Given the description of an element on the screen output the (x, y) to click on. 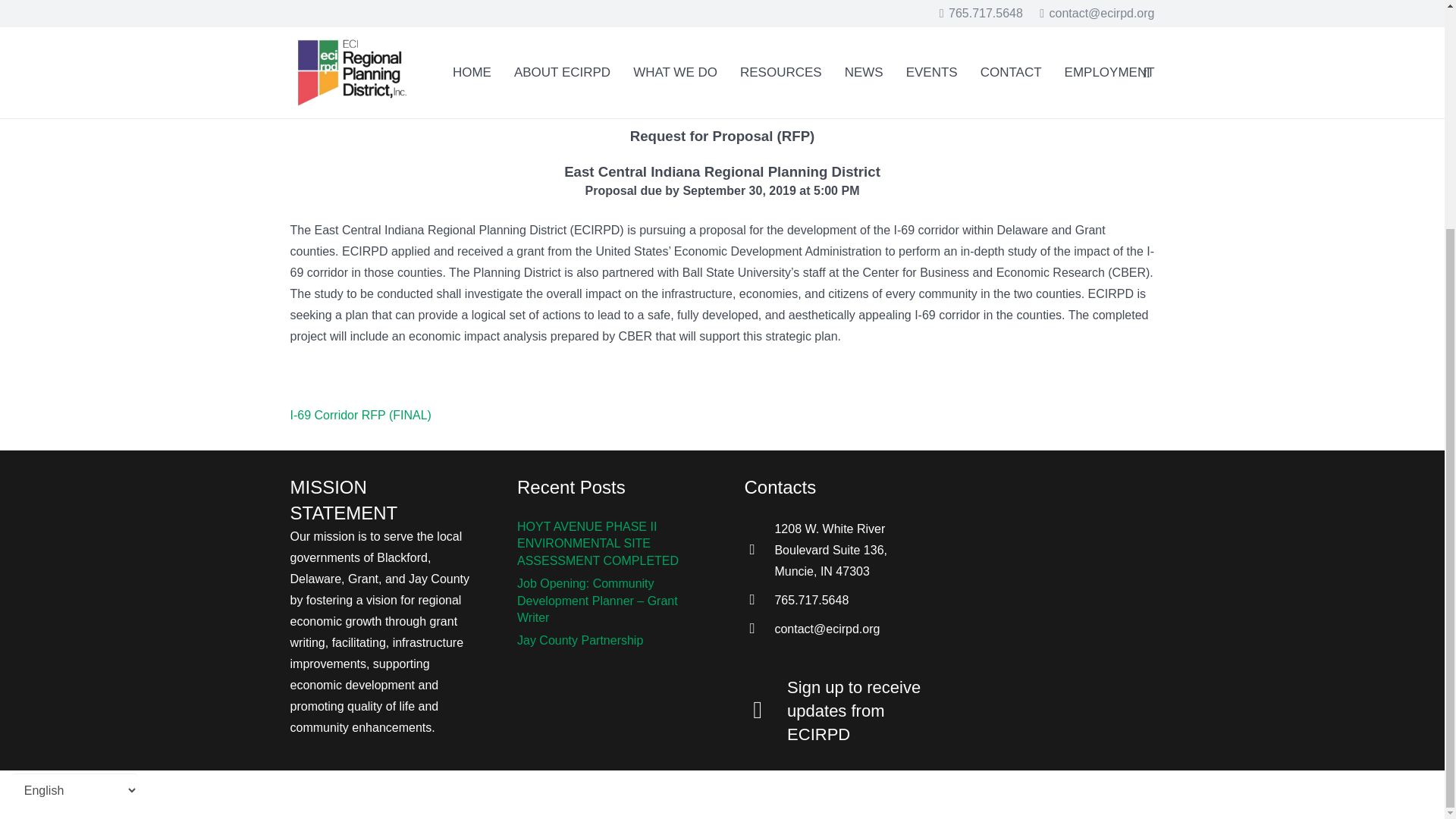
Jay County Partnership (579, 640)
1208 W. White River Boulevard Suite 136, Muncie, IN 47303 (850, 550)
Sign up to receive updates from ECIRPD (857, 711)
765.717.5648 (811, 599)
HOYT AVENUE PHASE II ENVIRONMENTAL SITE ASSESSMENT COMPLETED (597, 543)
